Given the description of an element on the screen output the (x, y) to click on. 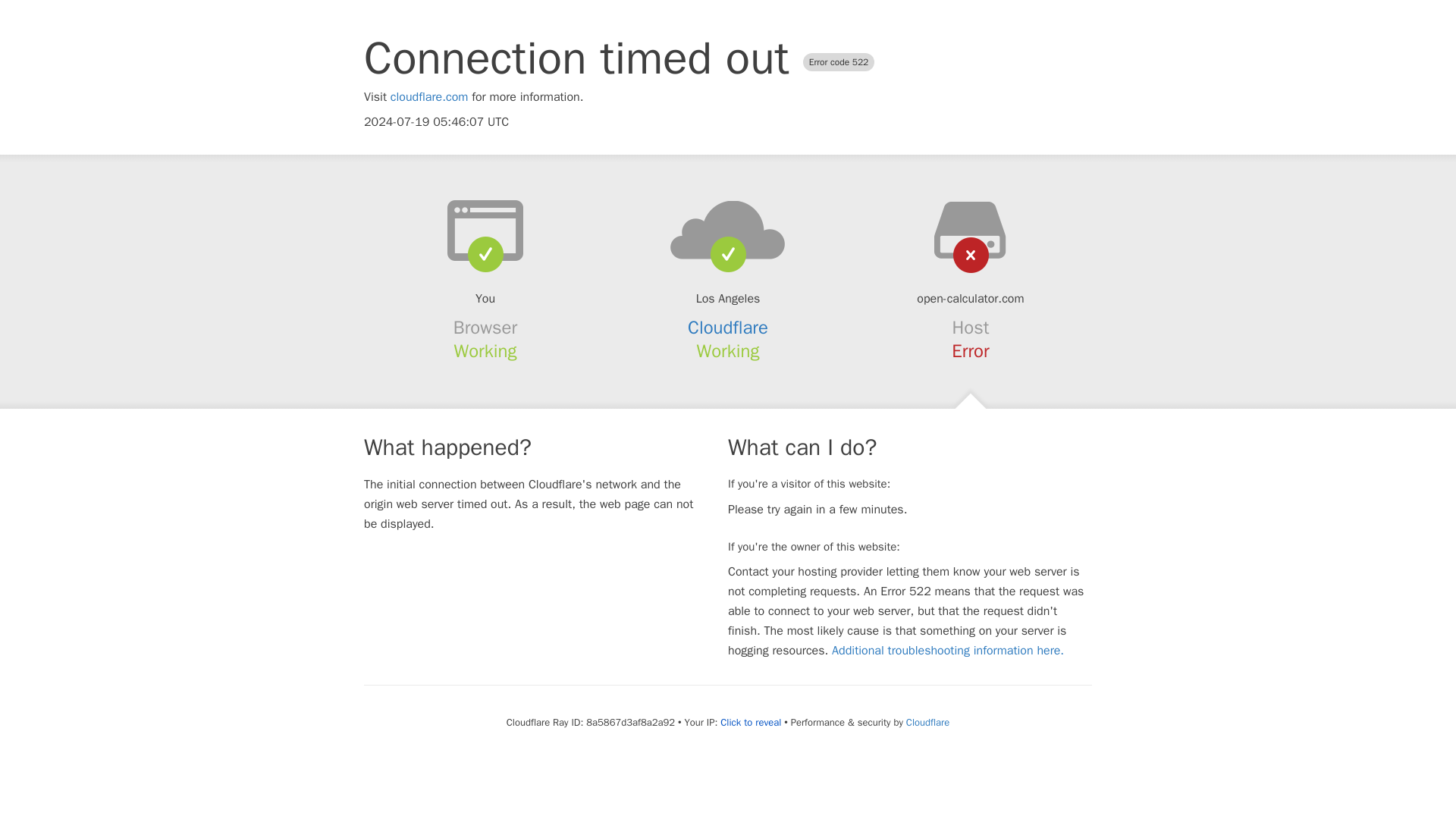
cloudflare.com (429, 96)
Additional troubleshooting information here. (947, 650)
Cloudflare (927, 721)
Click to reveal (750, 722)
Cloudflare (727, 327)
